Given the description of an element on the screen output the (x, y) to click on. 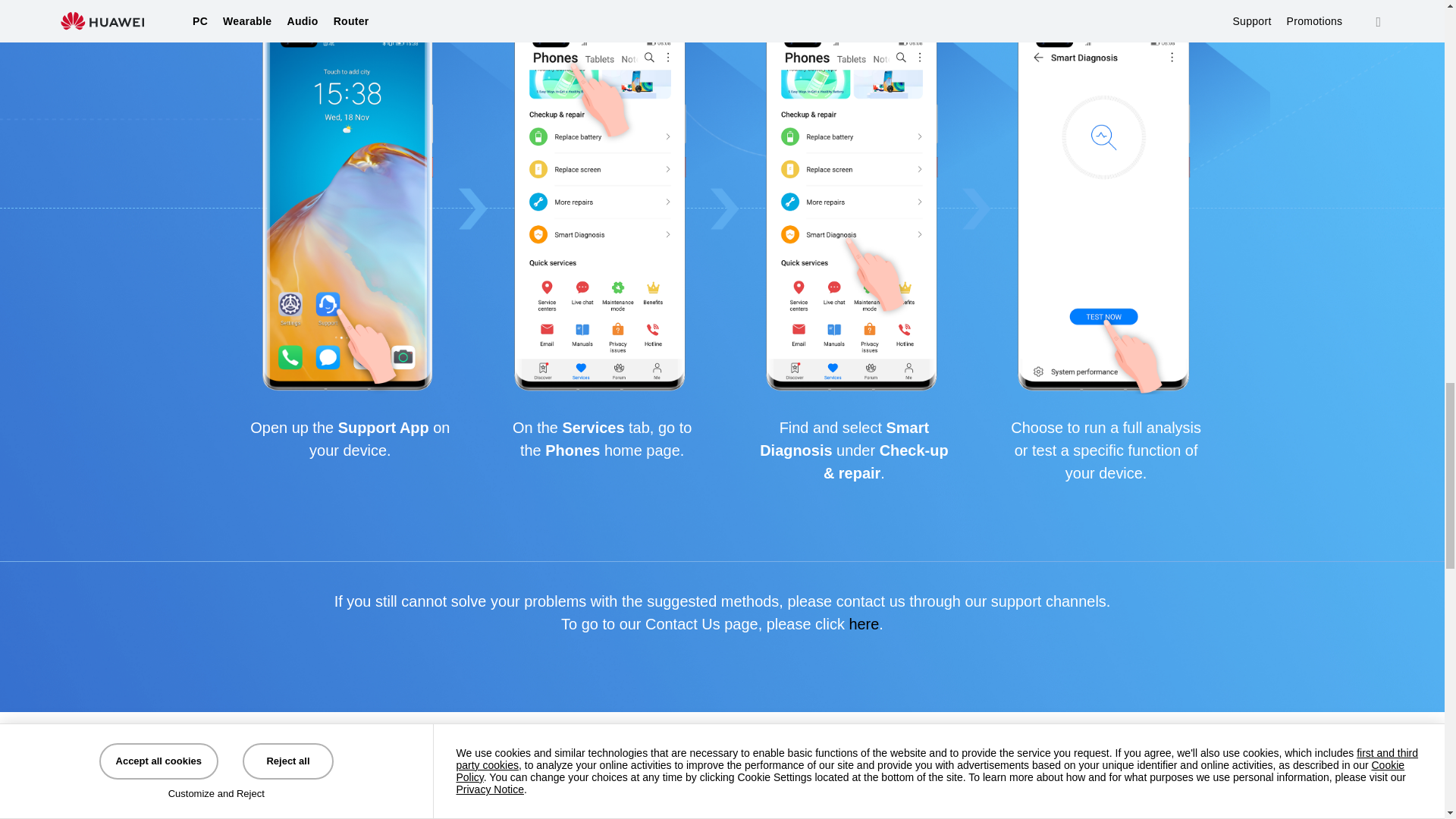
here (863, 623)
